Given the description of an element on the screen output the (x, y) to click on. 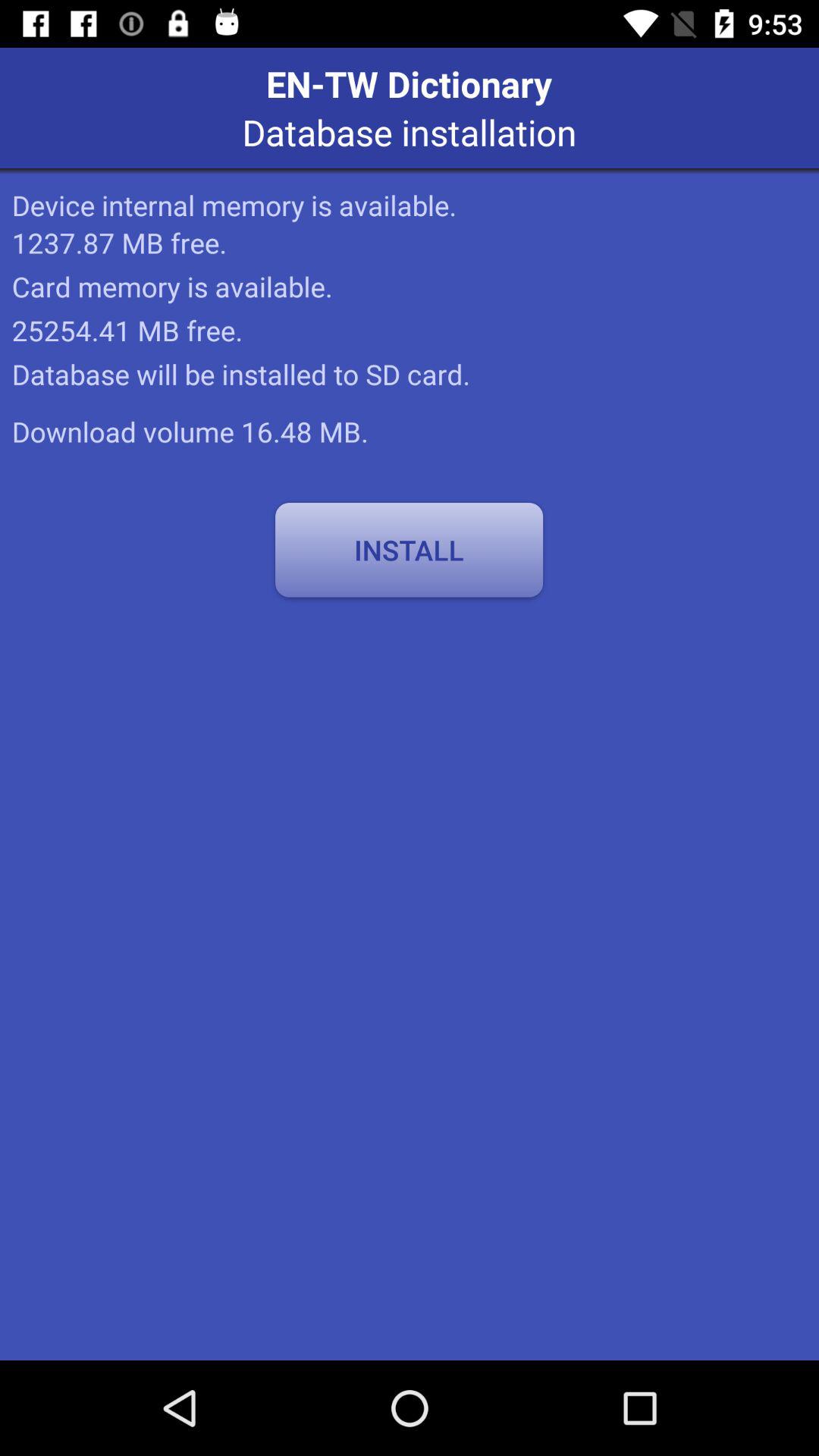
launch the item below download volume 16 icon (408, 549)
